Given the description of an element on the screen output the (x, y) to click on. 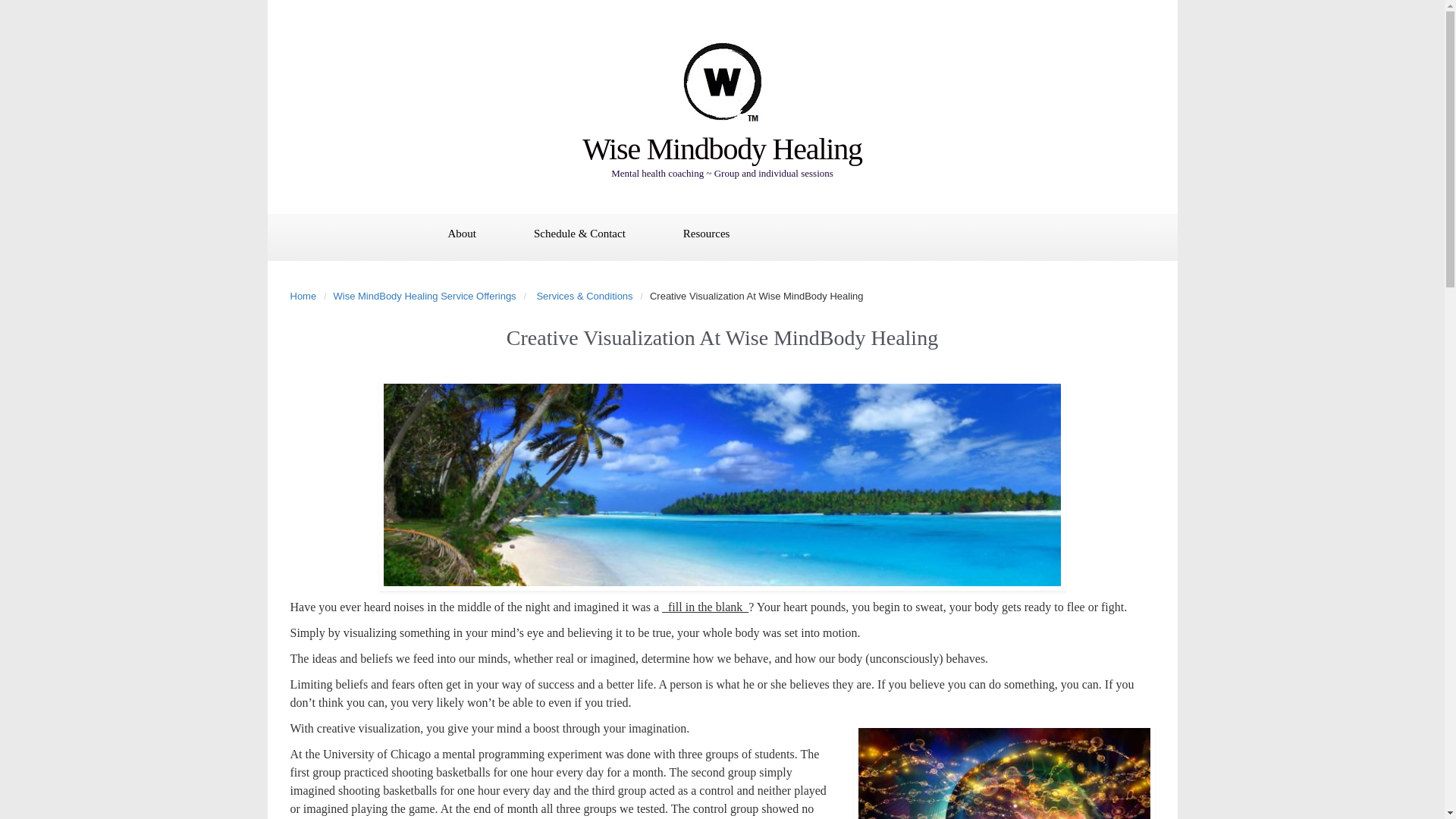
Home (306, 296)
Resources (706, 235)
About (461, 235)
Wise MindBody Healing Service Offerings (428, 296)
Wise MindBody Healing Service Offerings (428, 296)
Wise Mindbody Healing (721, 148)
